Given the description of an element on the screen output the (x, y) to click on. 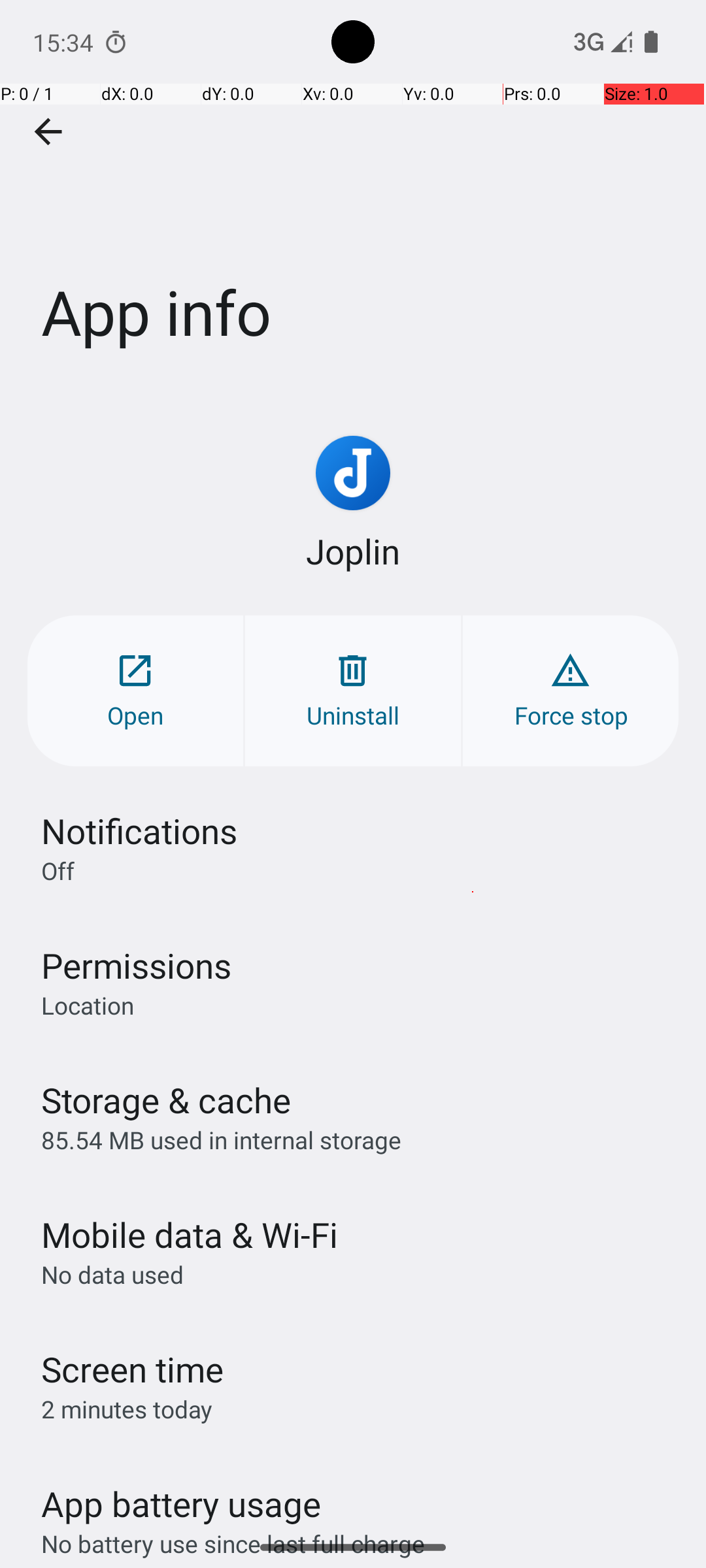
85.54 MB used in internal storage Element type: android.widget.TextView (221, 1139)
2 minutes today Element type: android.widget.TextView (127, 1408)
